Given the description of an element on the screen output the (x, y) to click on. 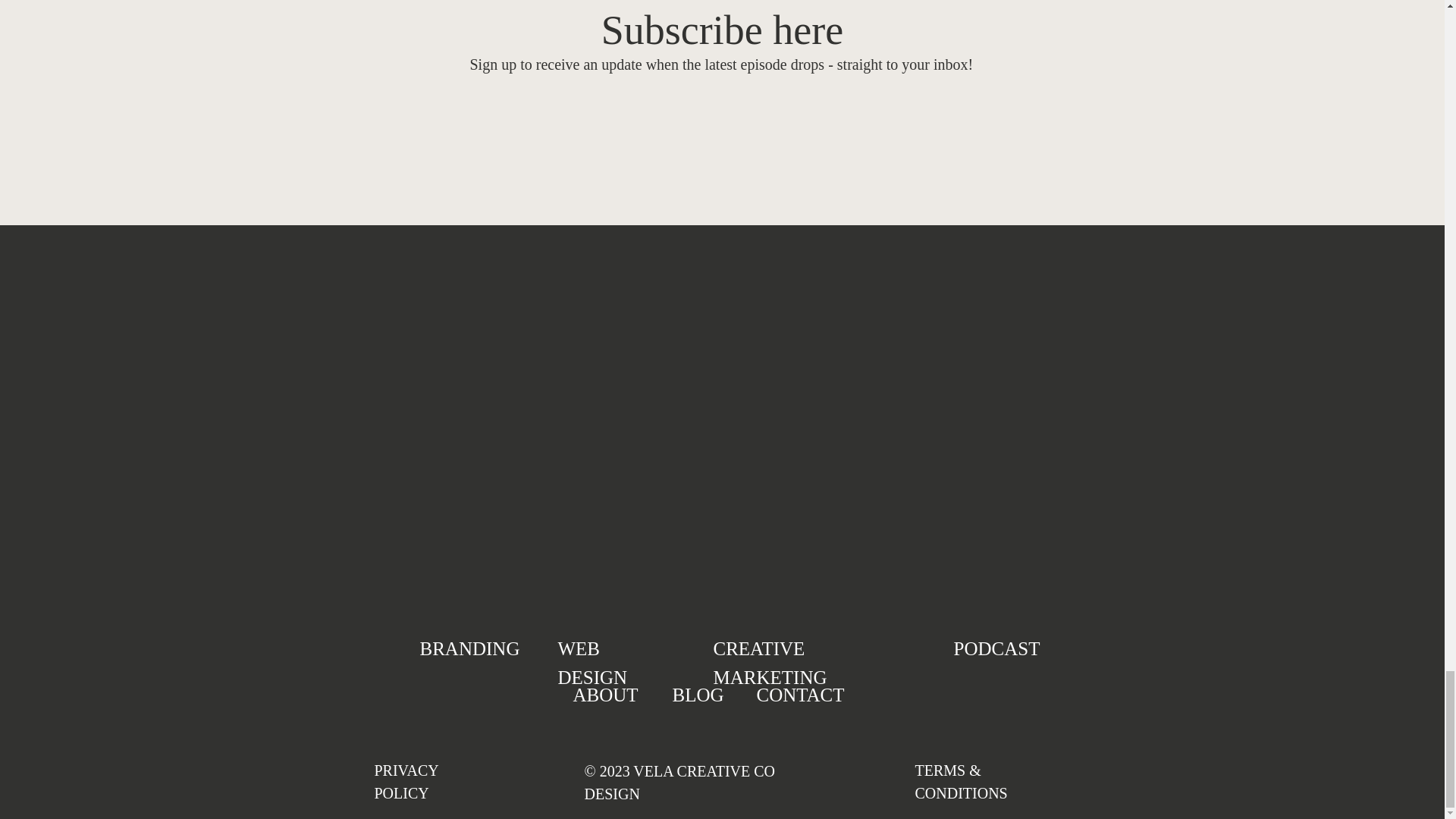
CREATIVE MARKETING (812, 646)
WEB DESIGN (614, 645)
ABOUT (598, 690)
CONTACT (794, 690)
PODCAST (997, 645)
BLOG (692, 690)
BRANDING (469, 645)
PRIVACY POLICY (432, 768)
